Given the description of an element on the screen output the (x, y) to click on. 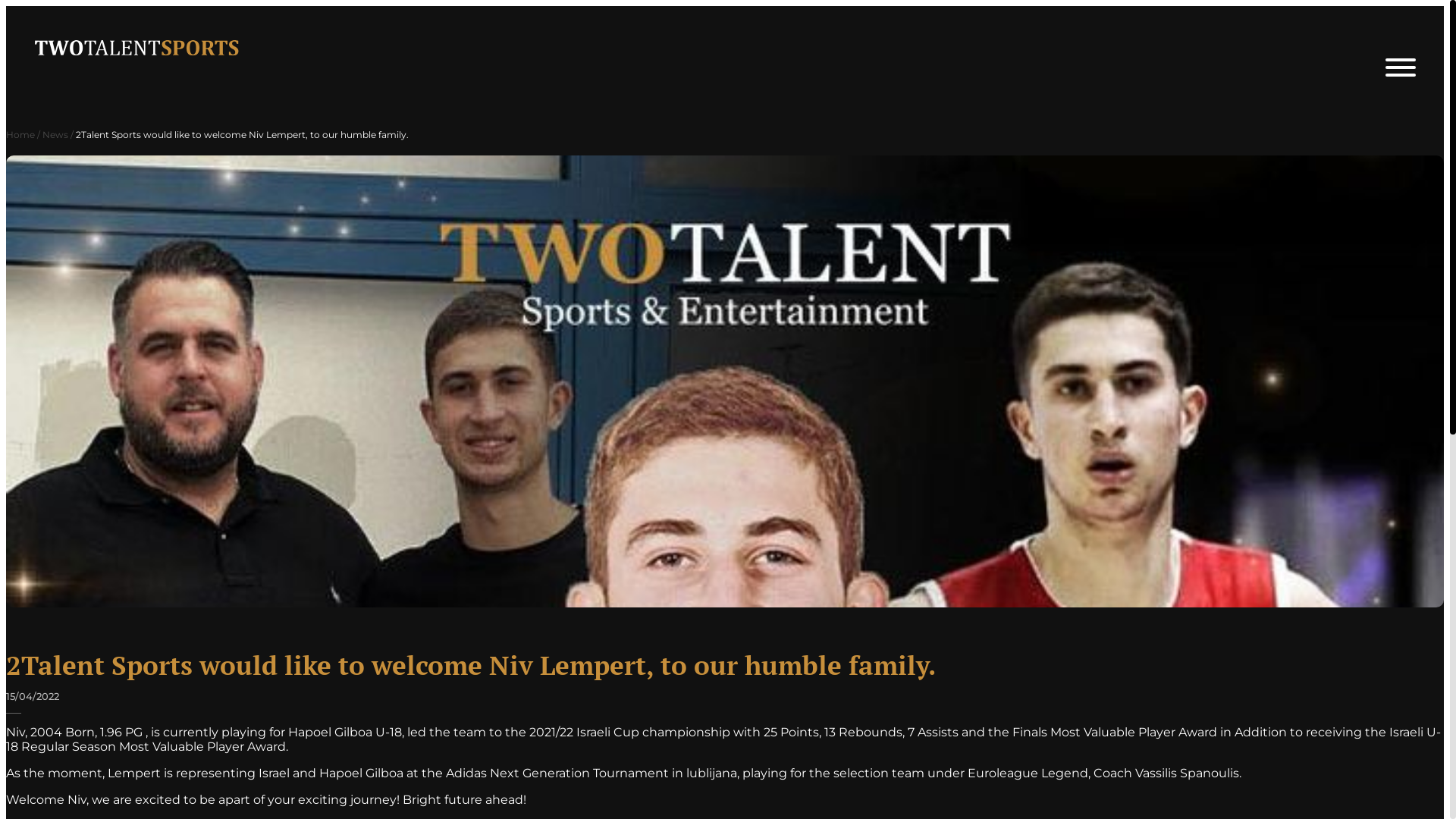
Home Element type: text (20, 134)
News Element type: text (55, 134)
